Given the description of an element on the screen output the (x, y) to click on. 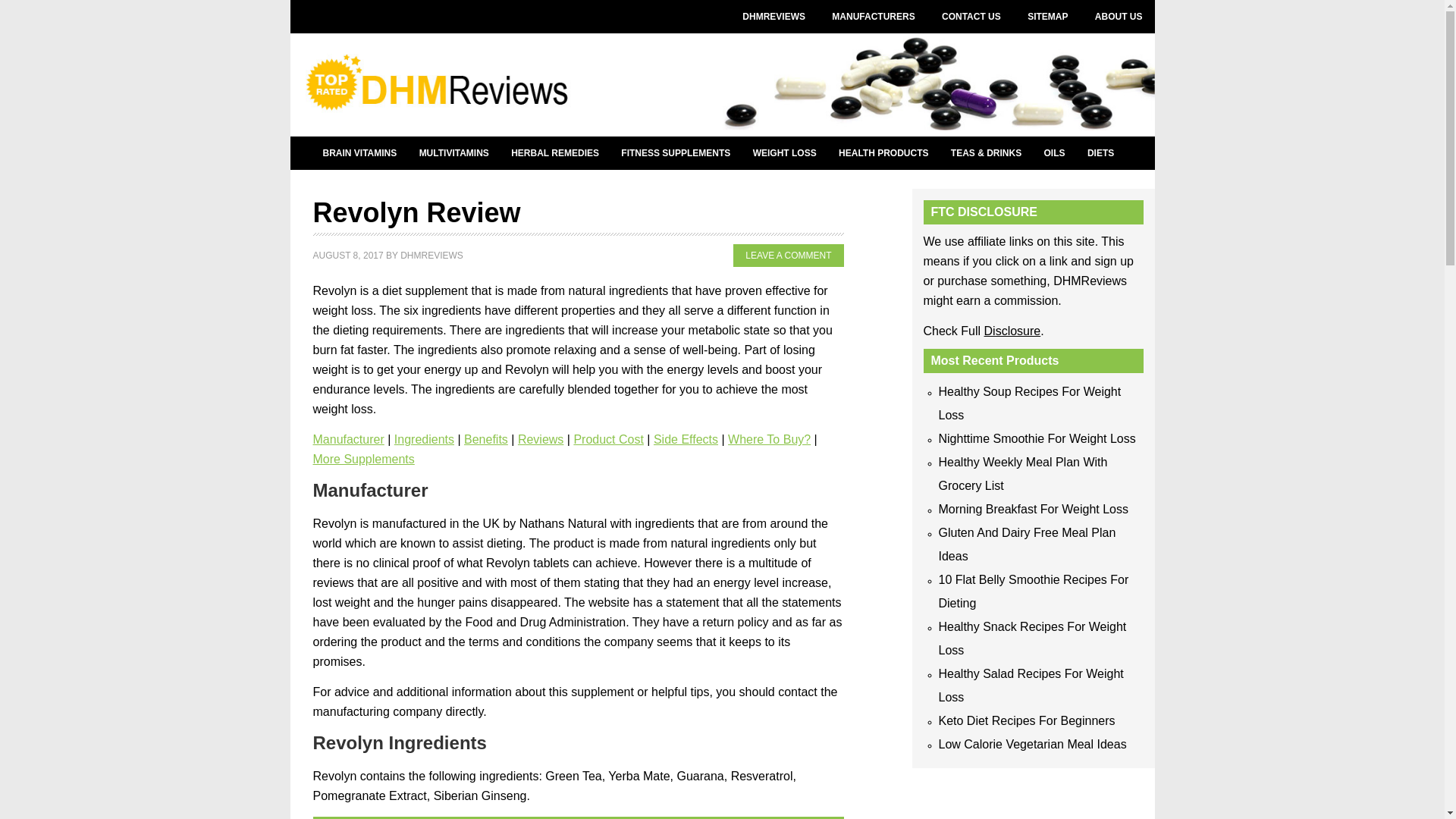
HERBAL REMEDIES (554, 152)
Nighttime Smoothie For Weight Loss (1037, 438)
Healthy Weekly Meal Plan With Grocery List (1023, 473)
Manufacturer (348, 439)
Where To Buy? (769, 439)
FITNESS SUPPLEMENTS (675, 152)
LEAVE A COMMENT (788, 255)
WEIGHT LOSS (784, 152)
MANUFACTURERS (872, 16)
Product Cost (608, 439)
